Given the description of an element on the screen output the (x, y) to click on. 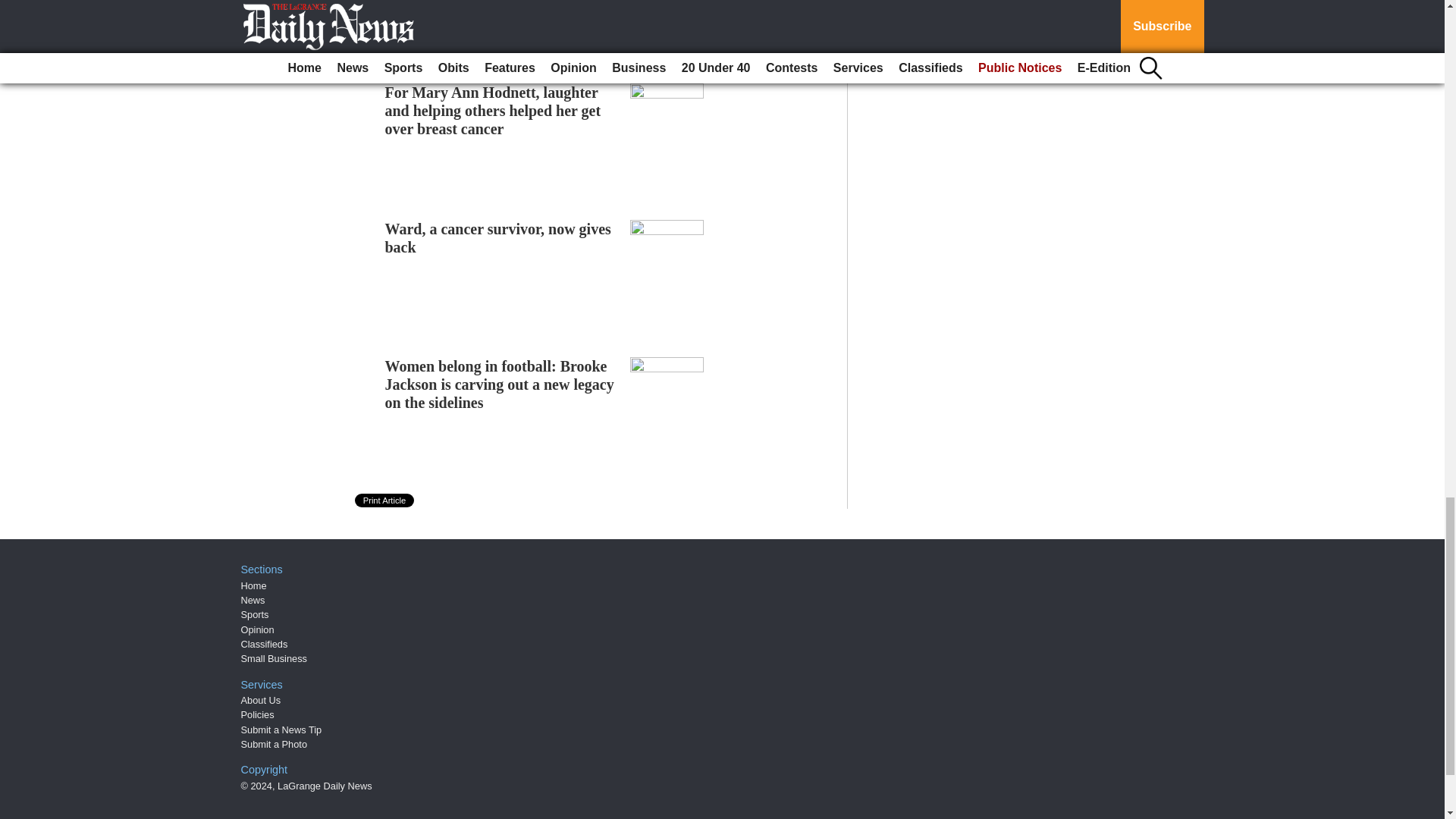
Print Article (384, 499)
Ward, a cancer survivor, now gives back (498, 237)
Ward, a cancer survivor, now gives back (498, 237)
Home (253, 585)
